Given the description of an element on the screen output the (x, y) to click on. 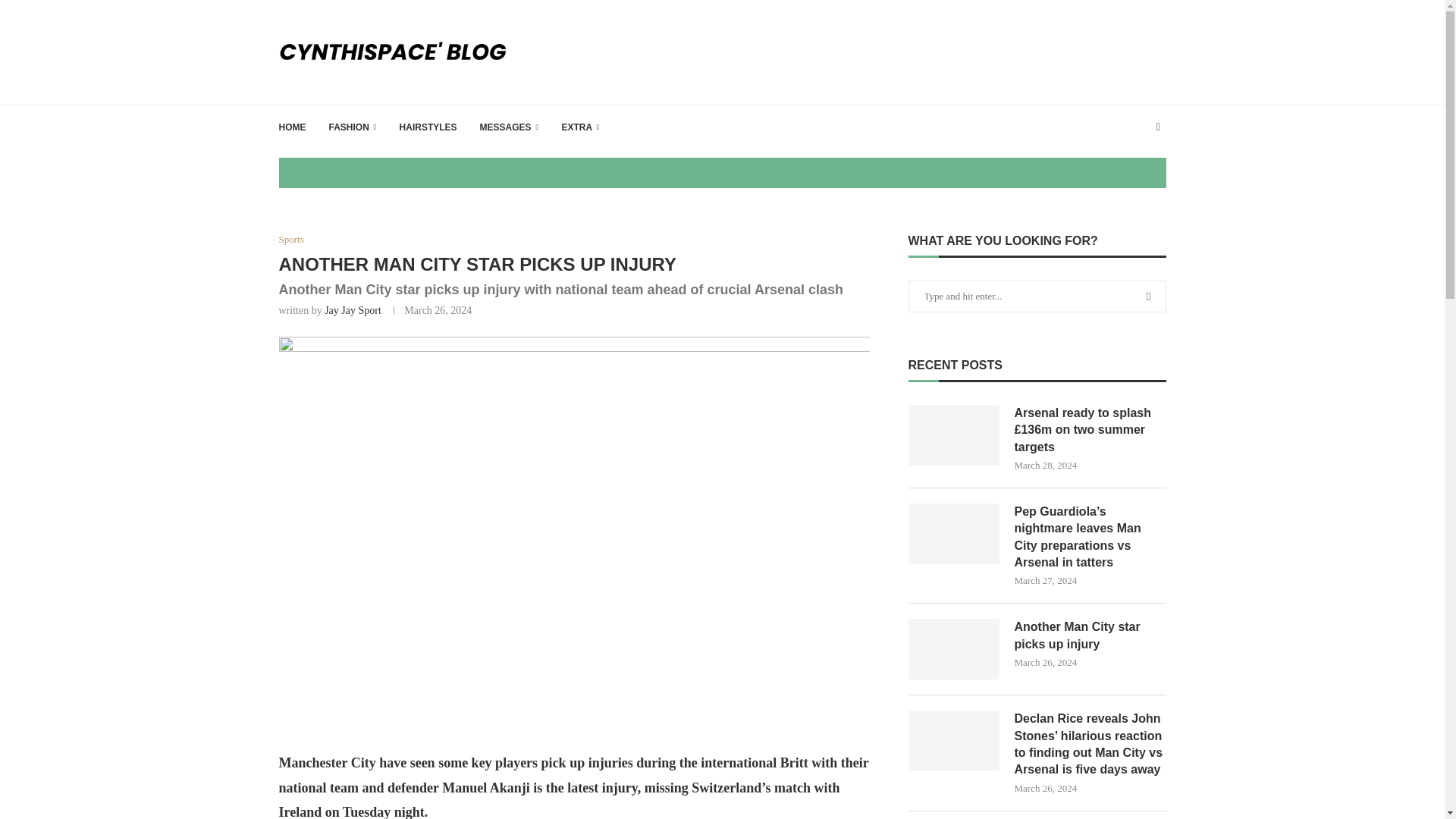
Jay Jay Sport (352, 310)
FASHION (353, 127)
Sports (291, 239)
MESSAGES (509, 127)
HAIRSTYLES (427, 127)
